Given the description of an element on the screen output the (x, y) to click on. 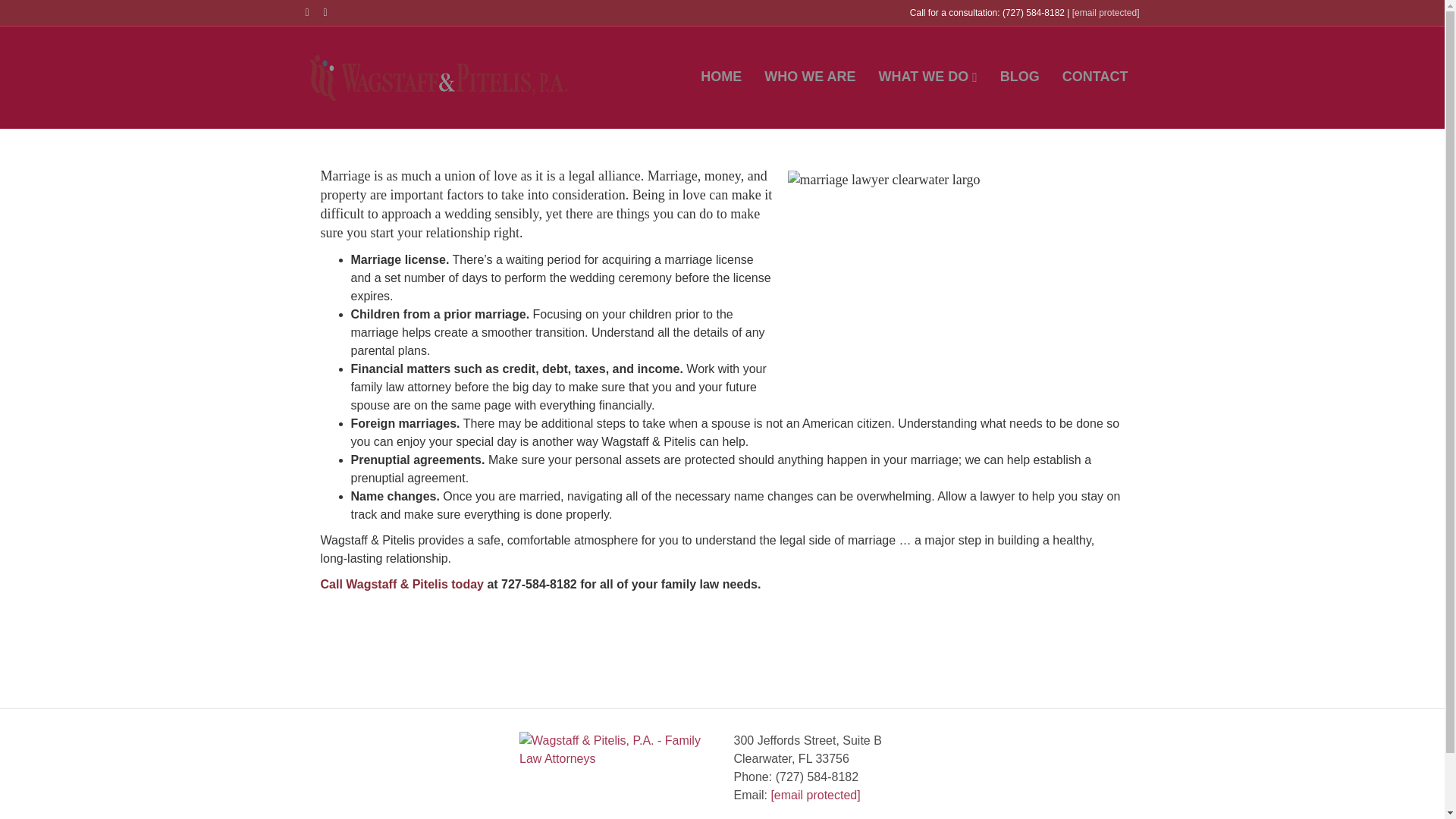
Facebook (313, 11)
BLOG (1019, 76)
Linkedin (331, 11)
WHAT WE DO (927, 77)
HOME (720, 76)
WHO WE ARE (809, 76)
CONTACT (1095, 76)
